Given the description of an element on the screen output the (x, y) to click on. 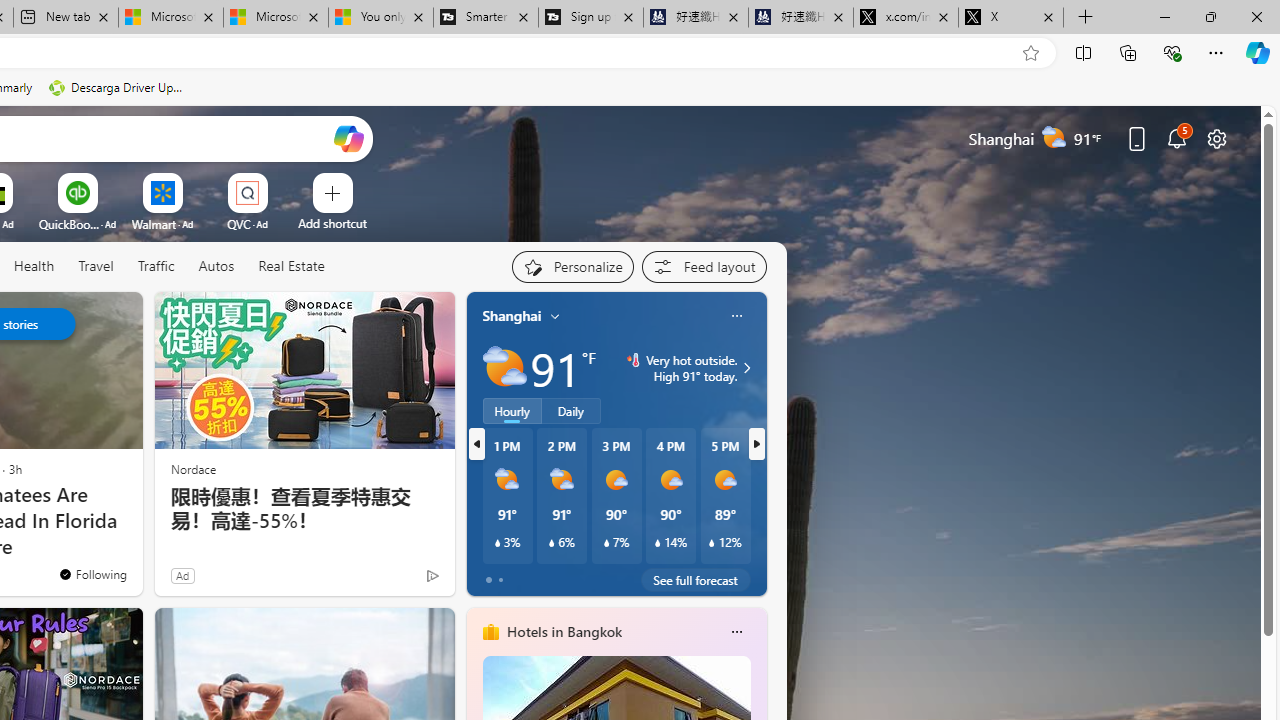
Page settings (1216, 138)
tab-0 (488, 579)
More options (736, 631)
Hotels in Bangkok (563, 631)
Daily (571, 411)
Autos (216, 267)
